Given the description of an element on the screen output the (x, y) to click on. 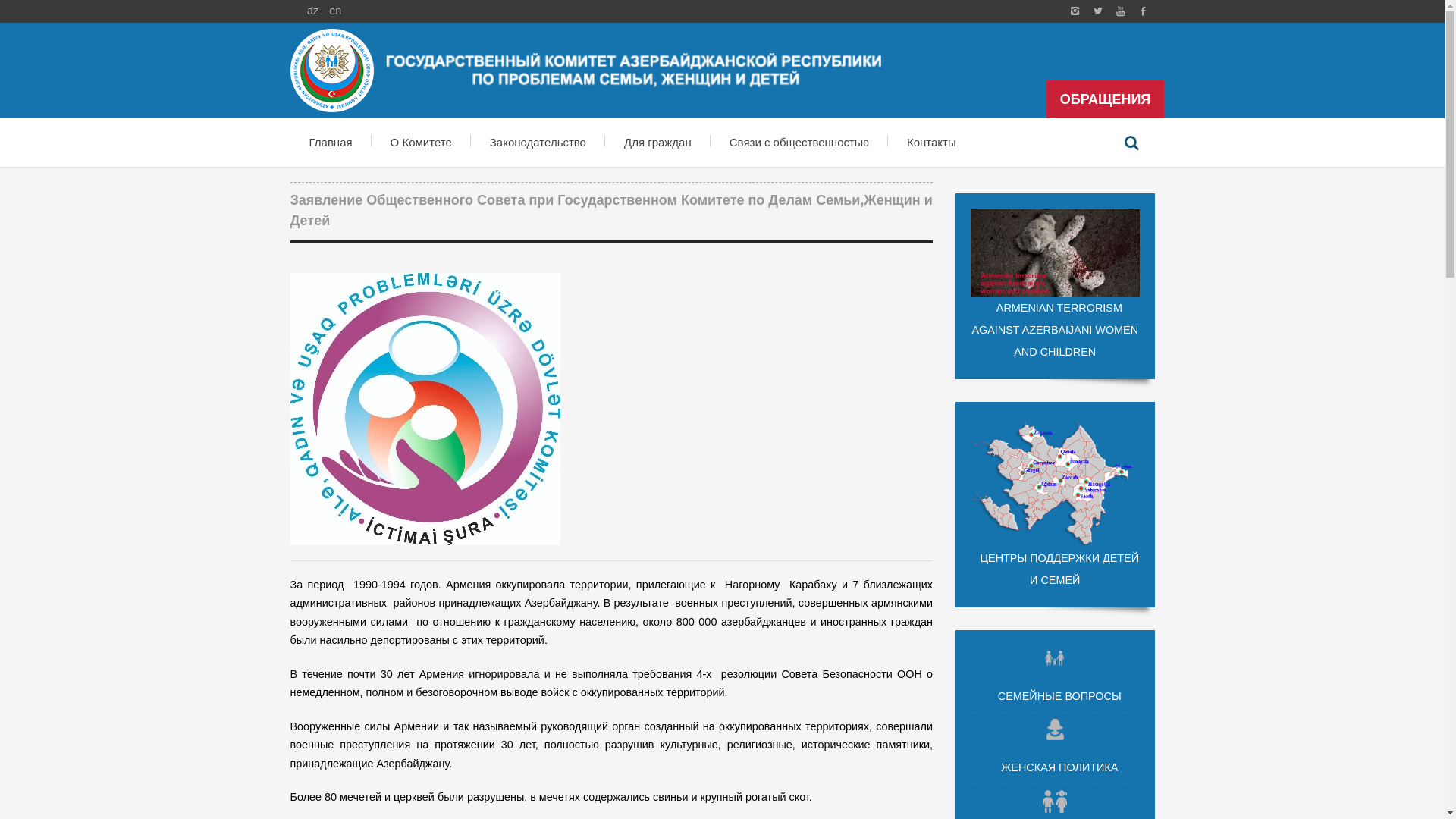
YOUTUBE Element type: text (1119, 11)
az Element type: text (312, 10)
The State Committee for Family, Women and Children Affairs Element type: text (1142, 11)
instagram Element type: text (1074, 11)
en Element type: text (335, 10)
Twitter Element type: text (1096, 11)
   ARMENIAN TERRORISM AGAINST AZERBAIJANI WOMEN AND CHILDREN Element type: text (1054, 286)
